Given the description of an element on the screen output the (x, y) to click on. 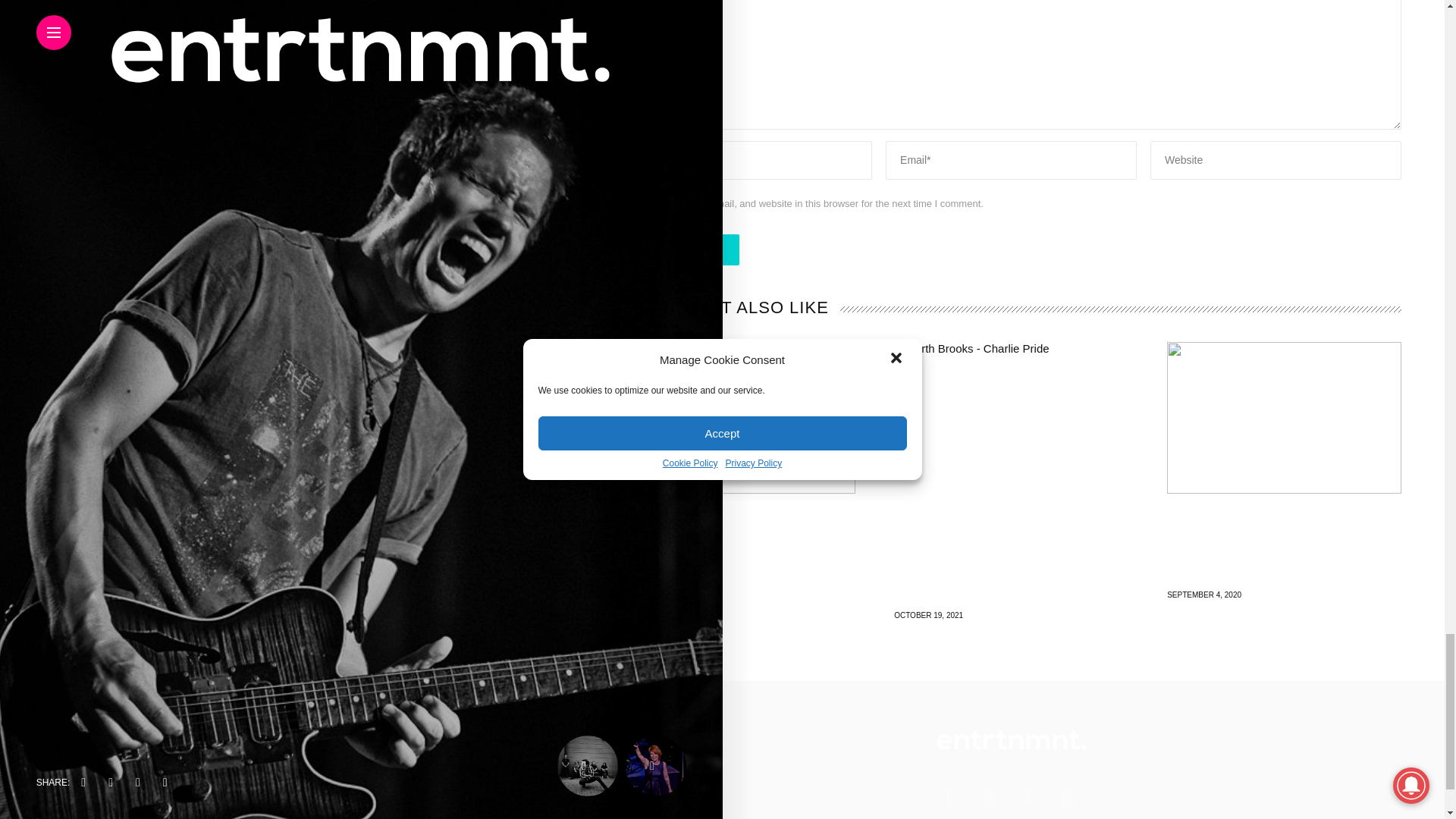
Post Comment (680, 249)
yes (627, 203)
